Given the description of an element on the screen output the (x, y) to click on. 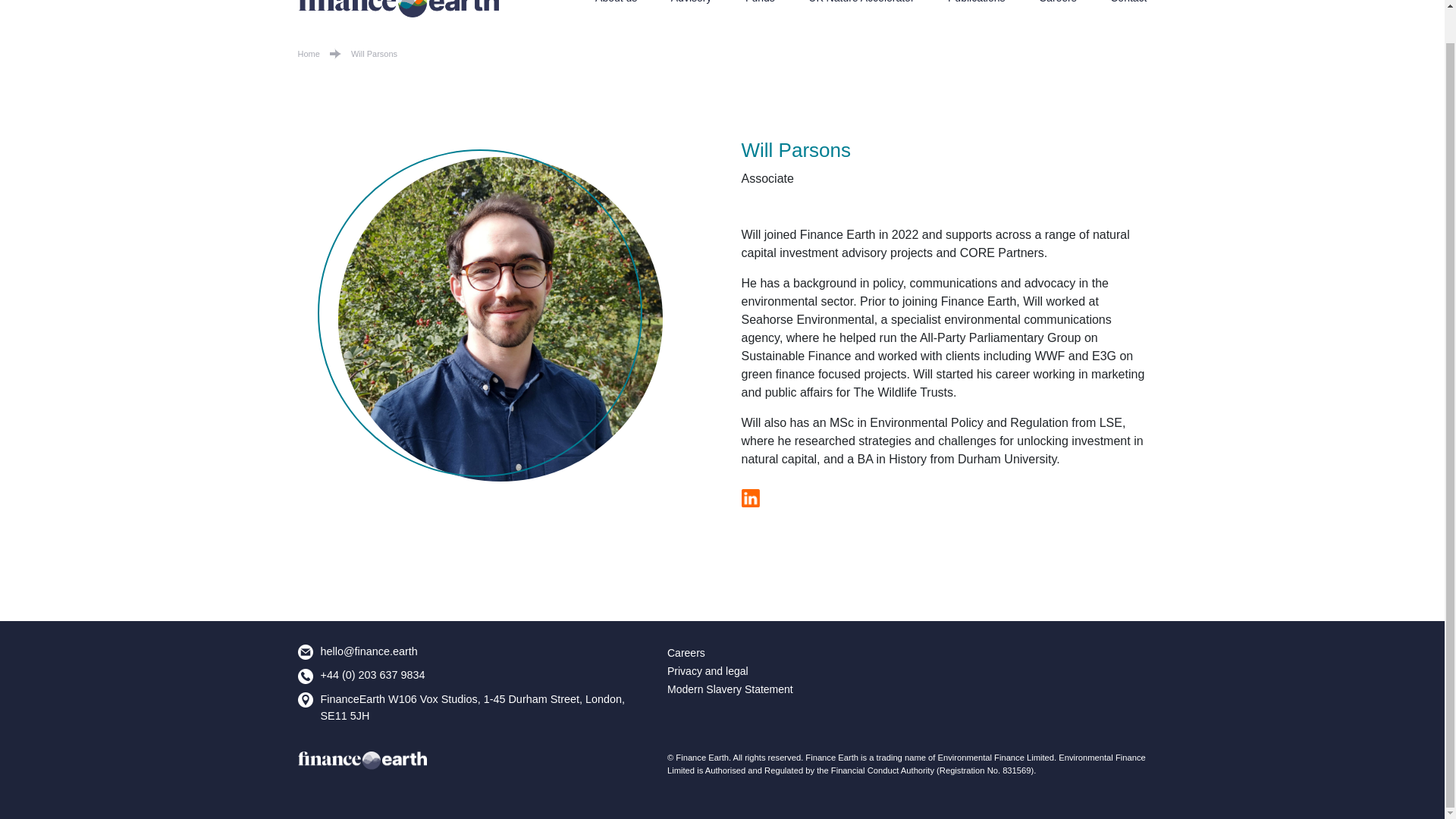
Contact (1128, 2)
Finance Earth (361, 760)
Careers (685, 653)
Funds (759, 2)
Email (305, 652)
Publications (976, 2)
Careers (1058, 2)
Advisory (691, 2)
About us (616, 2)
Modern Slavery Statement (729, 689)
UK Nature Accelerator (861, 2)
Home (307, 53)
Address (305, 699)
Telephone (305, 676)
Privacy and legal (707, 671)
